Given the description of an element on the screen output the (x, y) to click on. 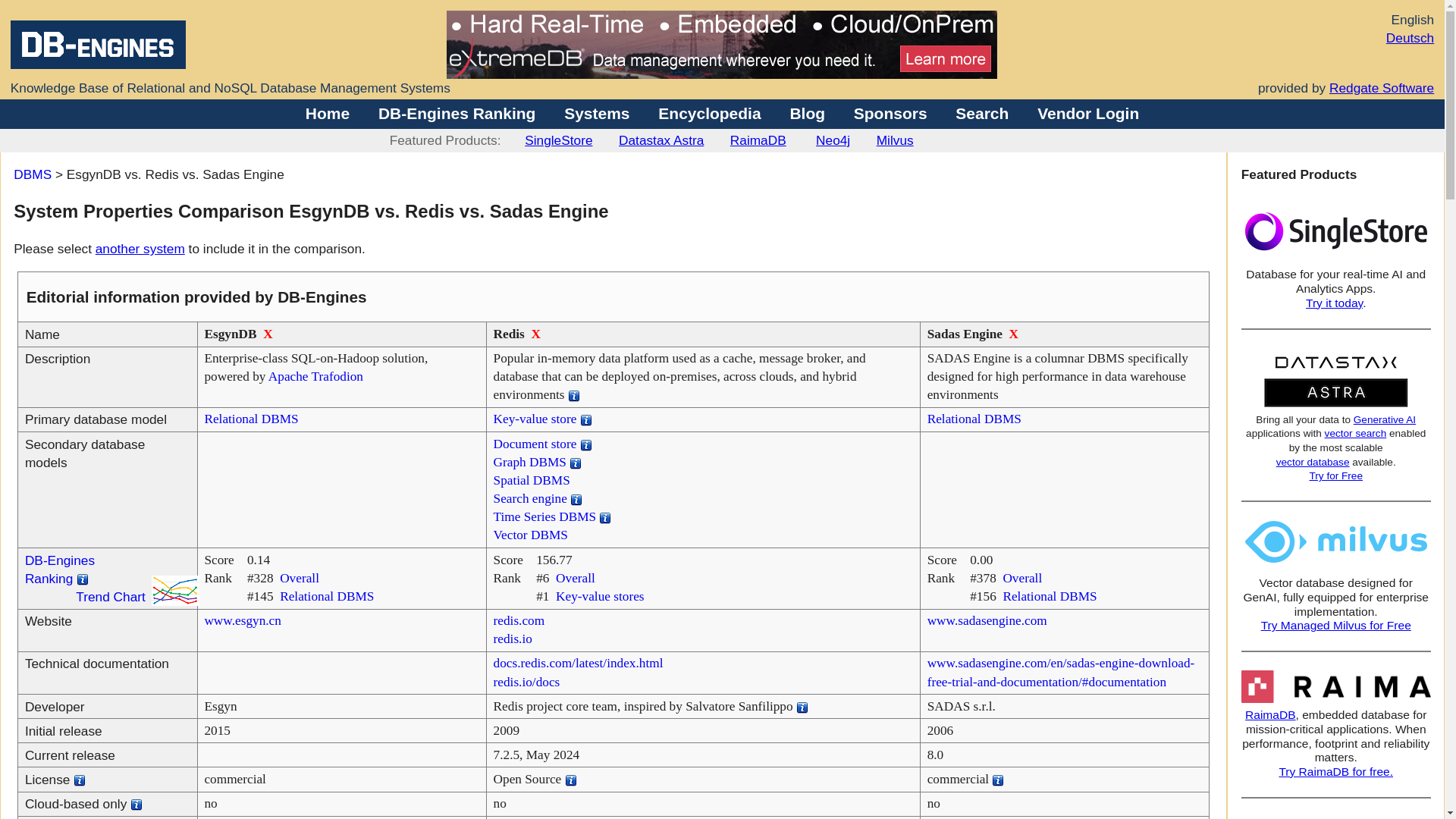
Overall (575, 577)
Overall (1022, 577)
Overall (298, 577)
Deutsch (1410, 37)
Graph DBMS (529, 462)
Document store (534, 443)
Search (982, 113)
X (267, 333)
DBMS (31, 174)
Vector DBMS (530, 534)
Encyclopedia (709, 113)
Apache Trafodion (314, 376)
Key-value store (534, 418)
RaimaDB (758, 140)
X (1013, 333)
